Given the description of an element on the screen output the (x, y) to click on. 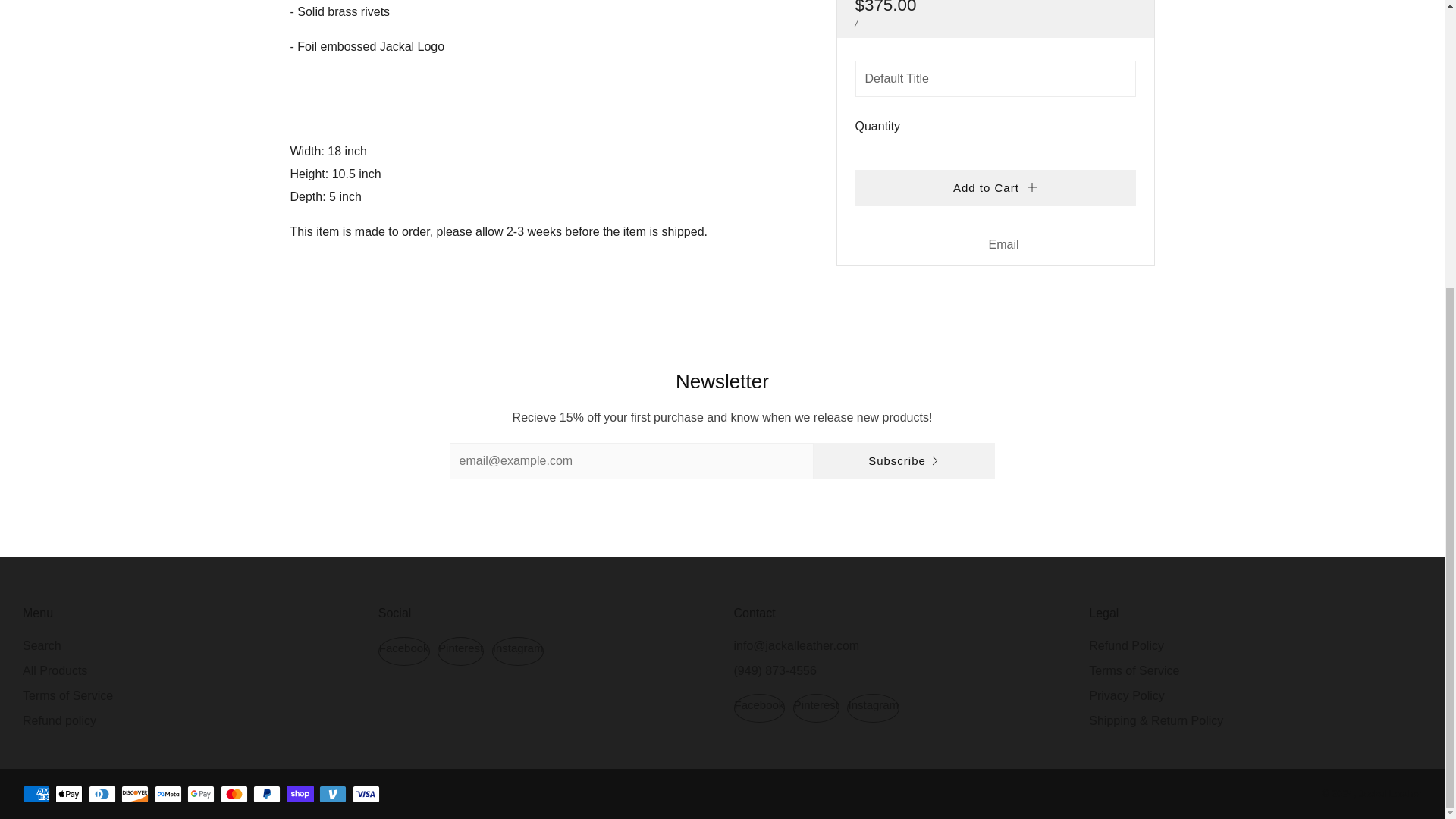
Subscribe (903, 461)
Email (1003, 84)
All Products (55, 670)
Add to Cart (995, 27)
Search (42, 645)
